Given the description of an element on the screen output the (x, y) to click on. 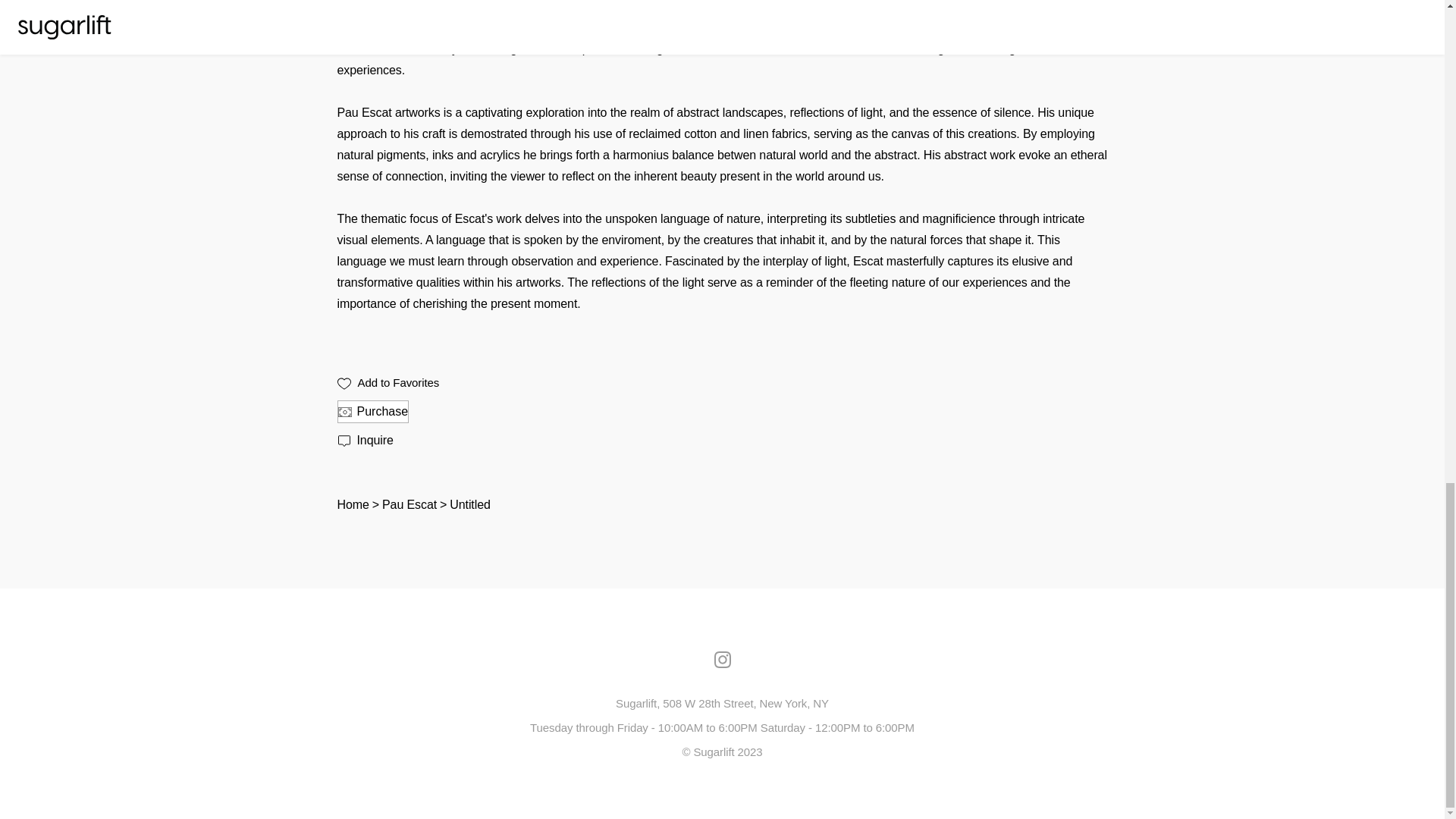
Untitled (469, 504)
Purchase (372, 411)
Home (352, 504)
Go to Instagram page (722, 658)
Pau Escat (408, 504)
